Given the description of an element on the screen output the (x, y) to click on. 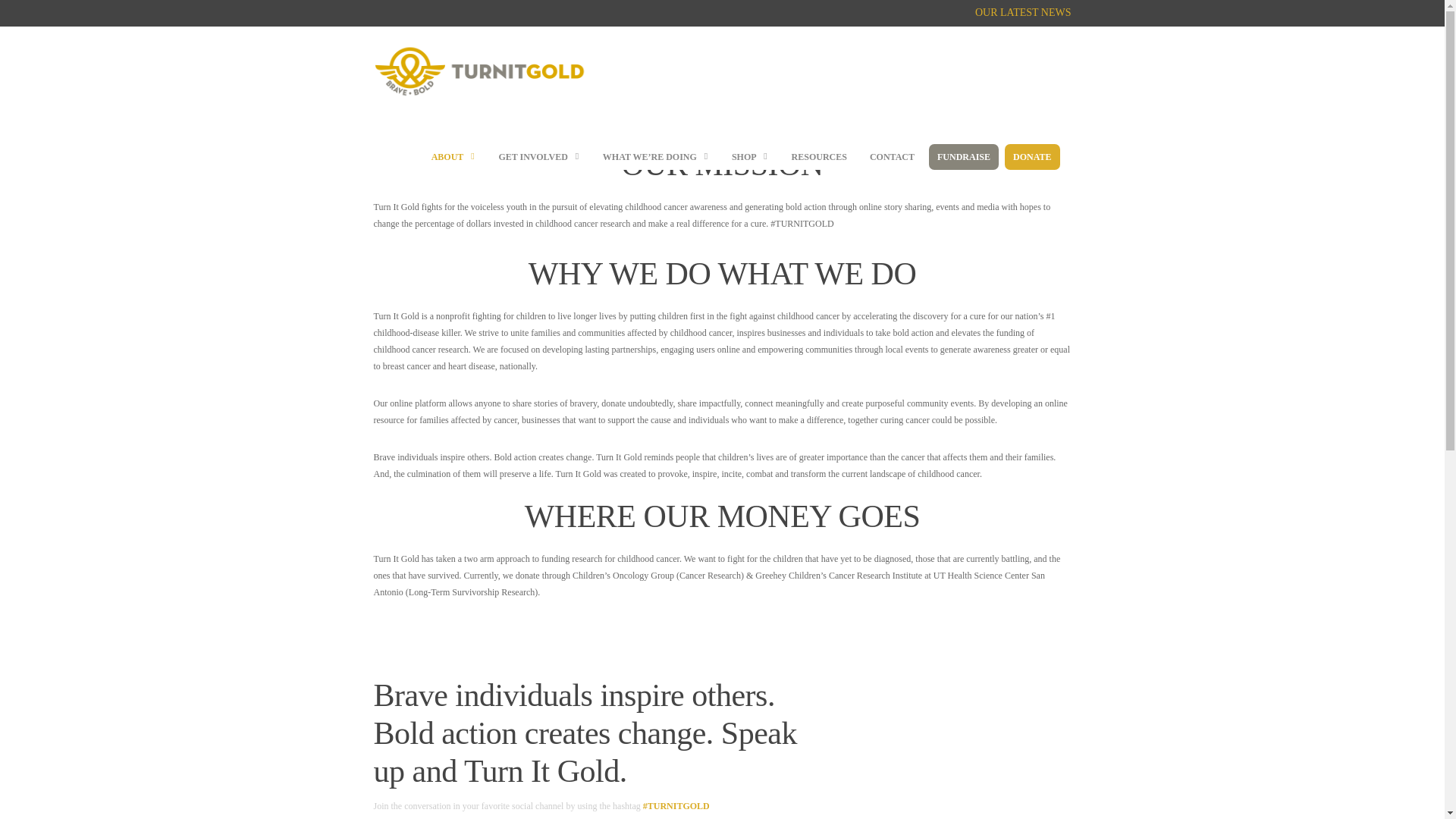
fb:page Facebook Social Plugin (958, 747)
CONTACT (891, 156)
OUR LATEST NEWS (1023, 12)
SHOP (749, 156)
FUNDRAISE (963, 156)
DONATE (1032, 156)
ABOUT (453, 156)
GET INVOLVED (538, 156)
Make a donation (1032, 156)
Become a fundraiser (963, 156)
RESOURCES (819, 156)
